Given the description of an element on the screen output the (x, y) to click on. 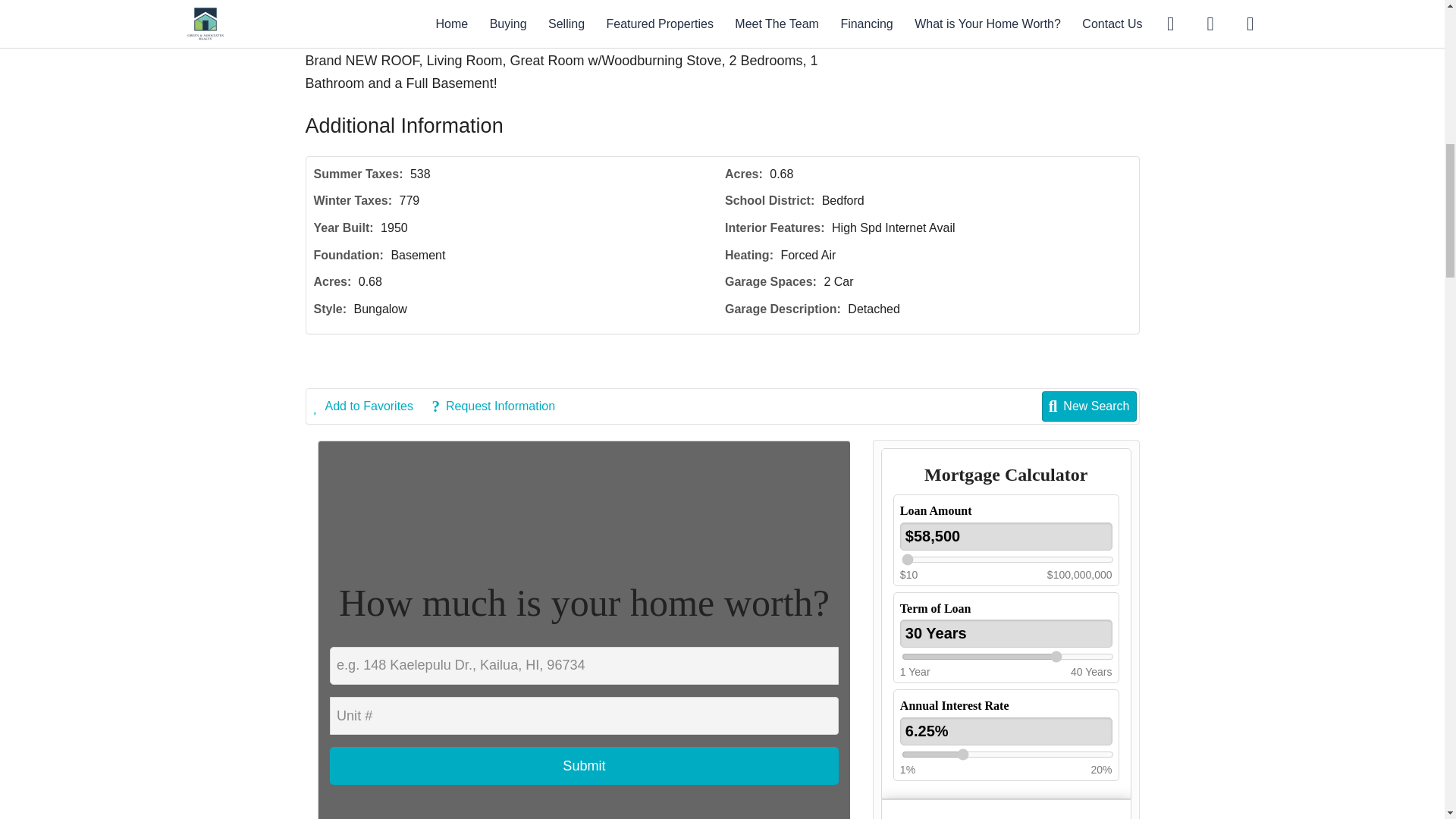
30 Years (1005, 633)
6.25 (1007, 754)
30 (1007, 656)
58500 (1007, 559)
